Given the description of an element on the screen output the (x, y) to click on. 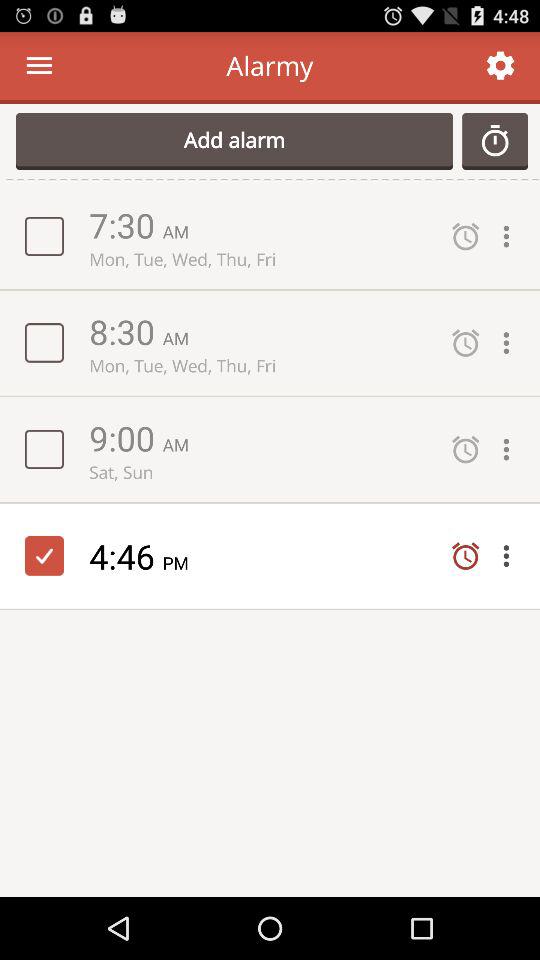
turn on icon next to the pm (125, 555)
